Given the description of an element on the screen output the (x, y) to click on. 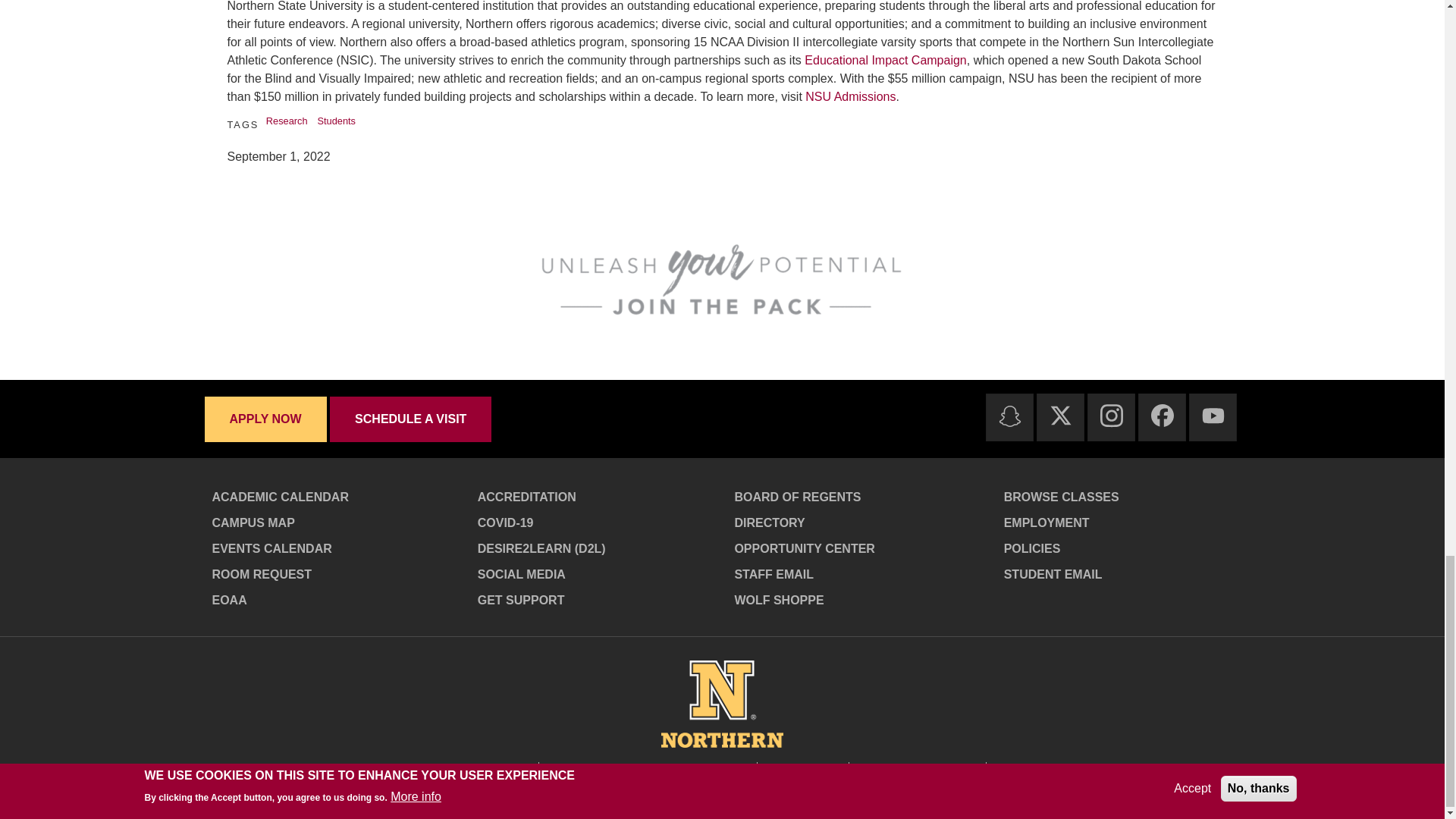
Submit a TeamDynamix support request (598, 600)
Apply (267, 418)
Schedule a Visit (411, 418)
